Given the description of an element on the screen output the (x, y) to click on. 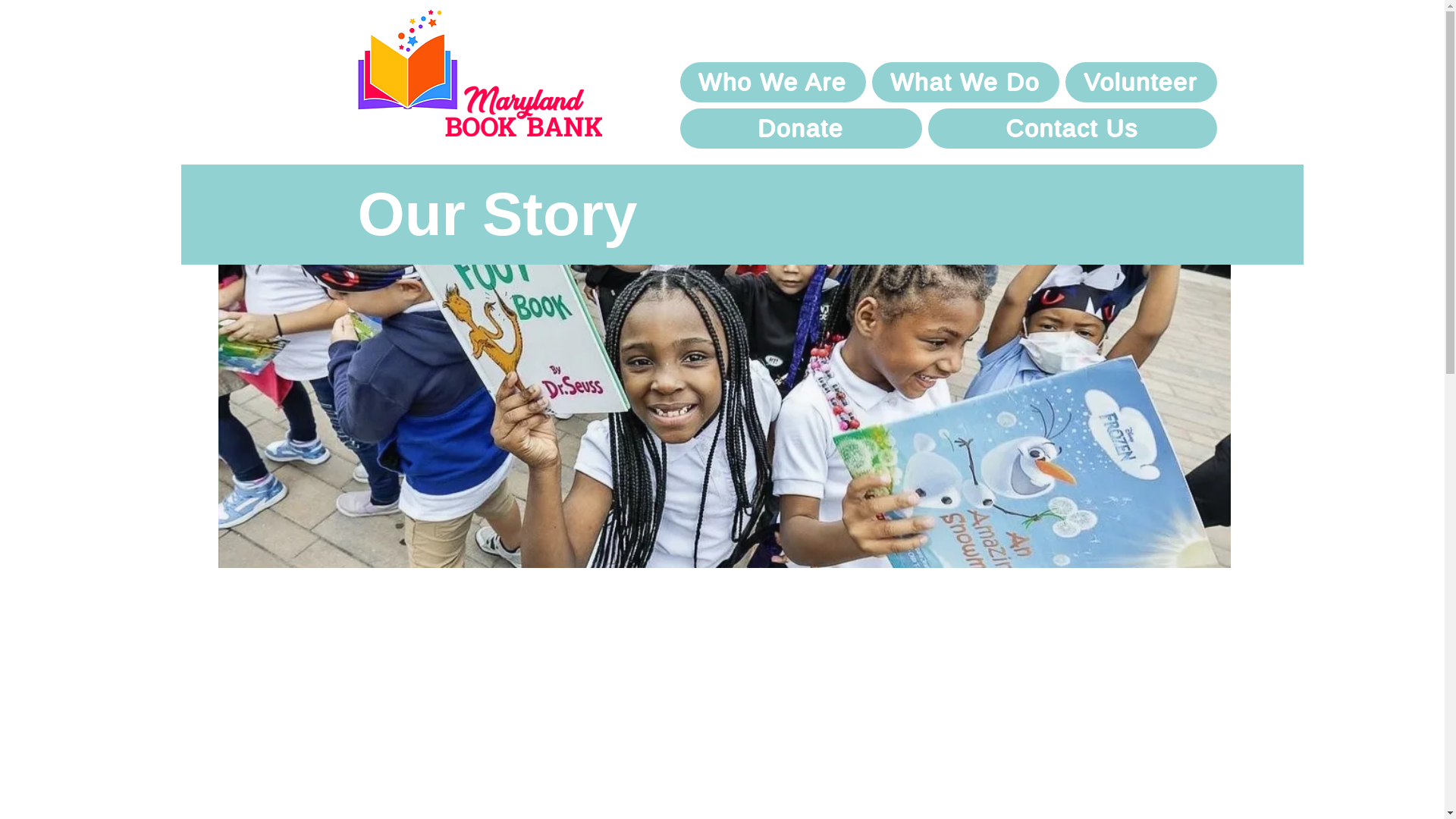
Donate (800, 128)
Who We Are (771, 82)
Contact Us (1072, 128)
What We Do (965, 82)
Volunteer (1141, 82)
